Given the description of an element on the screen output the (x, y) to click on. 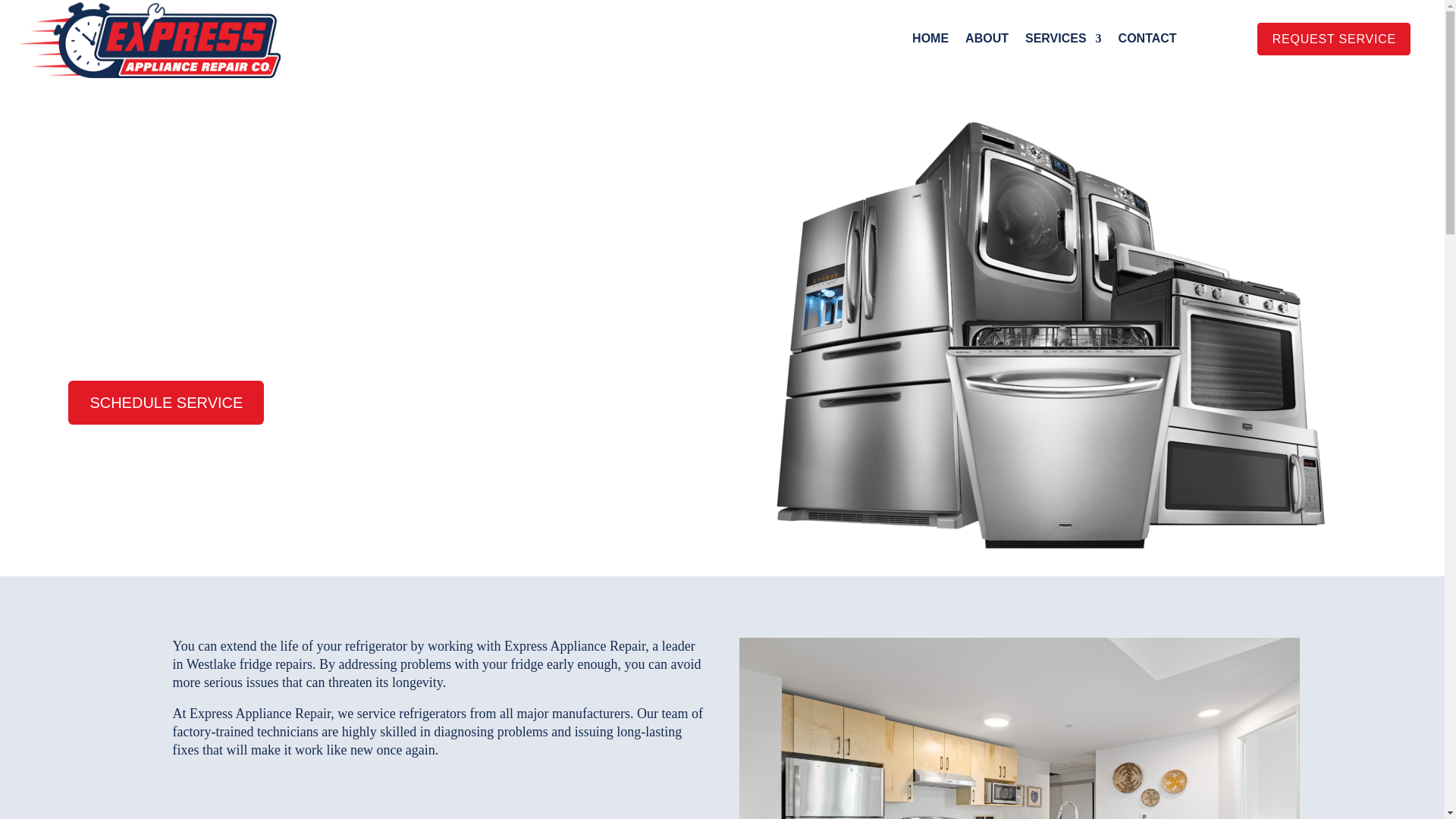
SERVICES (1063, 41)
ABOUT (987, 41)
SCHEDULE SERVICE (165, 402)
HOME (930, 41)
REQUEST SERVICE (1333, 39)
express-appliance-repair (150, 39)
CONTACT (1147, 41)
Refrigerator Repairs (1019, 728)
